Given the description of an element on the screen output the (x, y) to click on. 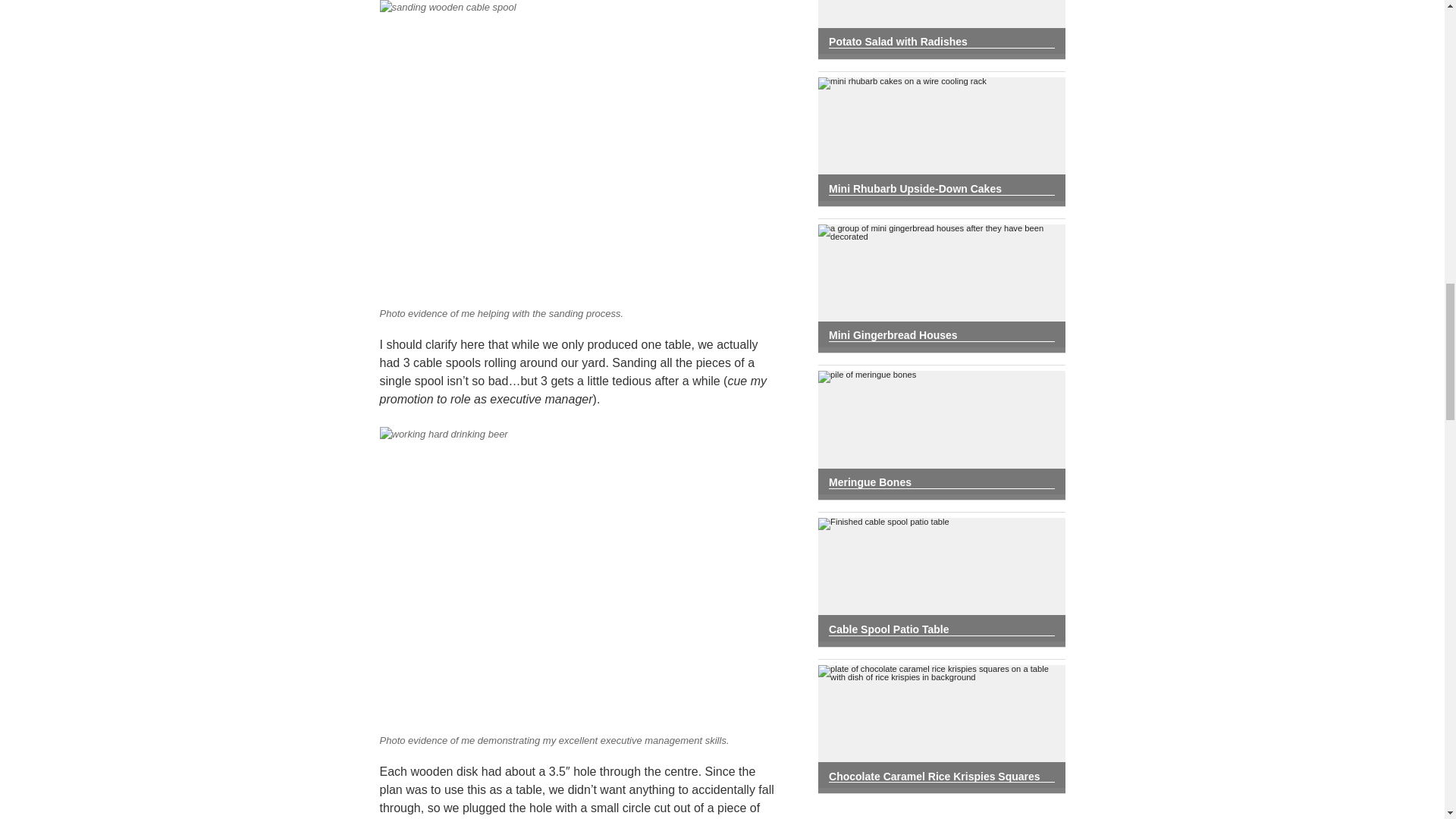
Cable Spool Patio Table (941, 629)
Meringue Bones (941, 481)
Mini Gingerbread Houses (941, 335)
Mini Rhubarb Upside-Down Cakes (941, 188)
Chocolate Caramel Rice Krispies Squares (941, 776)
Potato Salad with Radishes (941, 42)
